Given the description of an element on the screen output the (x, y) to click on. 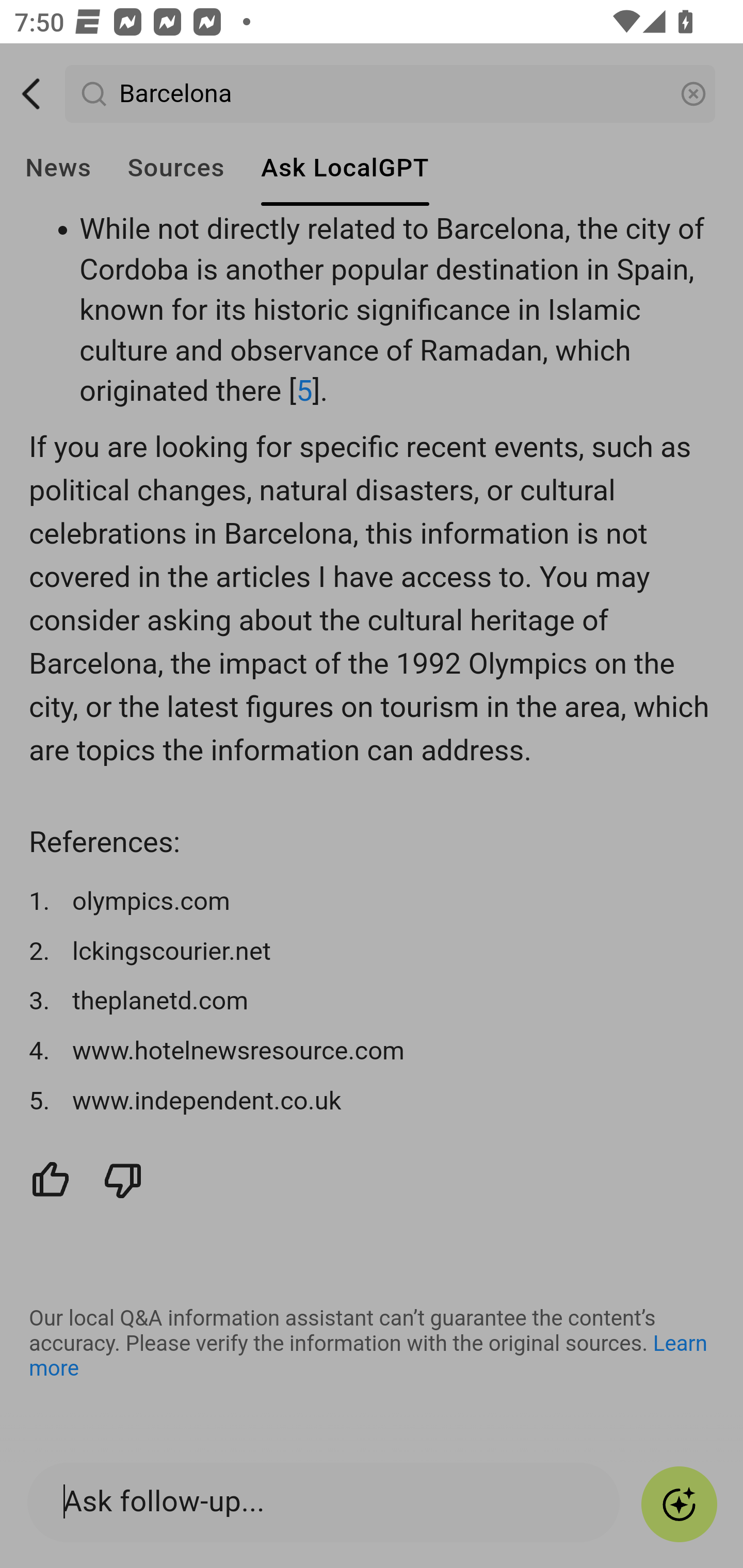
Barcelona (390, 95)
News (58, 168)
Sources (175, 168)
Ask LocalGPT (344, 168)
4 (229, 160)
5 (305, 391)
1. olympics.com 1. olympics.com (372, 902)
2. lckingscourier.net 2. lckingscourier.net (372, 952)
3. theplanetd.com 3. theplanetd.com (372, 1002)
5. www.independent.co.uk 5. www.independent.co.uk (372, 1102)
